Given the description of an element on the screen output the (x, y) to click on. 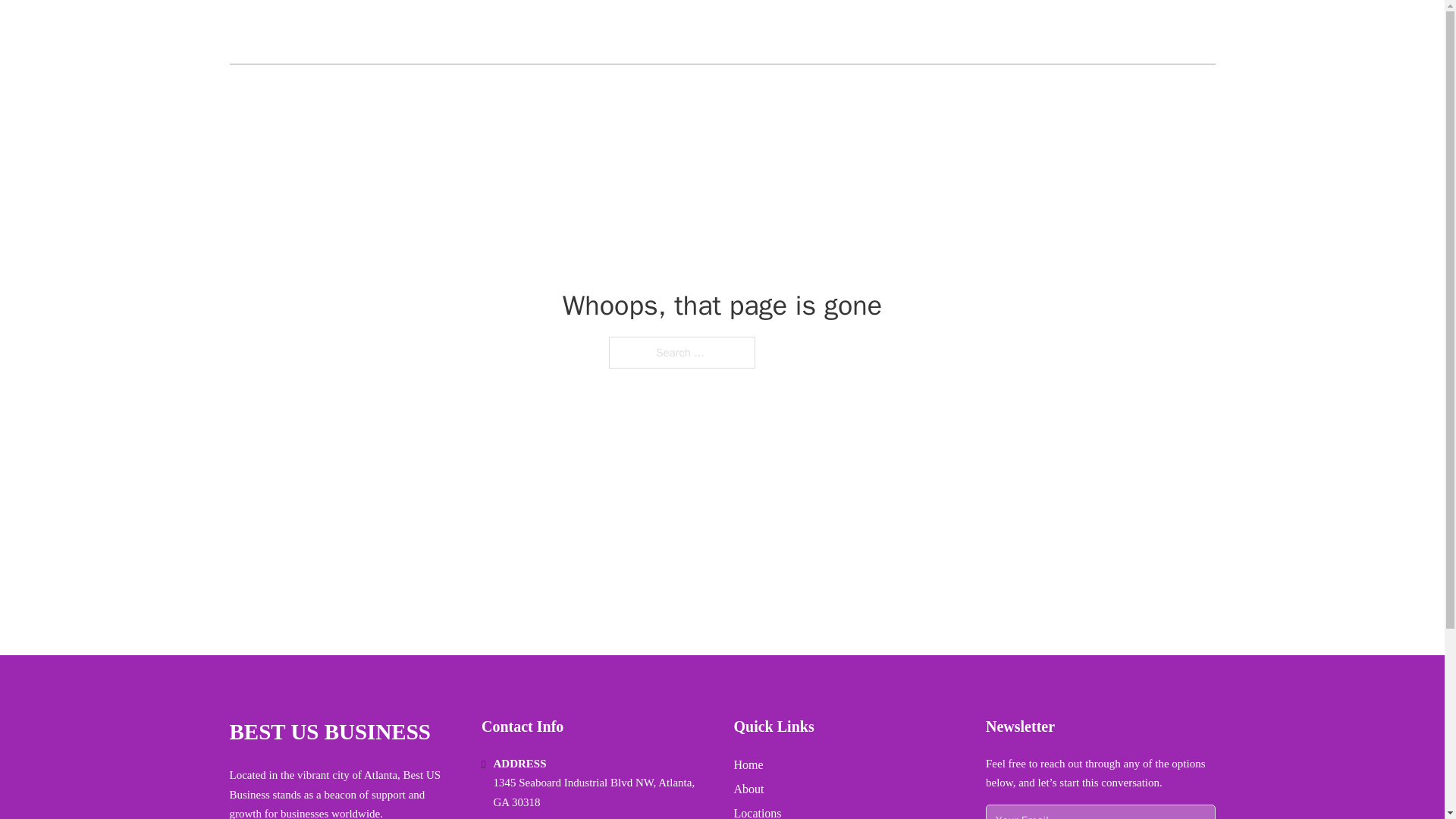
About (748, 788)
Locations (757, 811)
LOCATIONS (1105, 31)
BEST US BUSINESS (328, 732)
Home (747, 764)
HOME (1032, 31)
BEST US BUSINESS (339, 31)
